Given the description of an element on the screen output the (x, y) to click on. 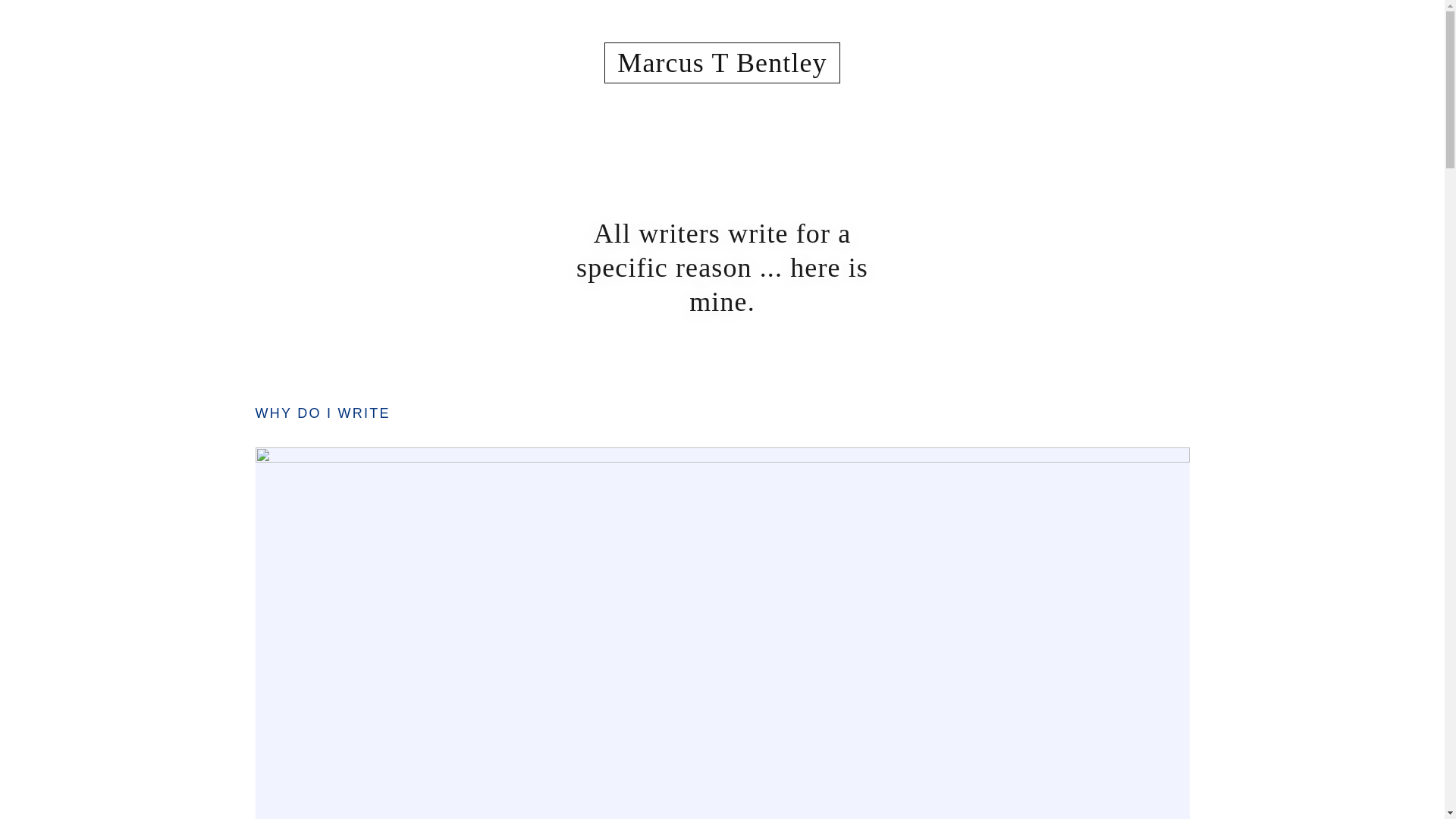
Marcus T Bentley (722, 67)
Marcus T Bentley (722, 67)
